Given the description of an element on the screen output the (x, y) to click on. 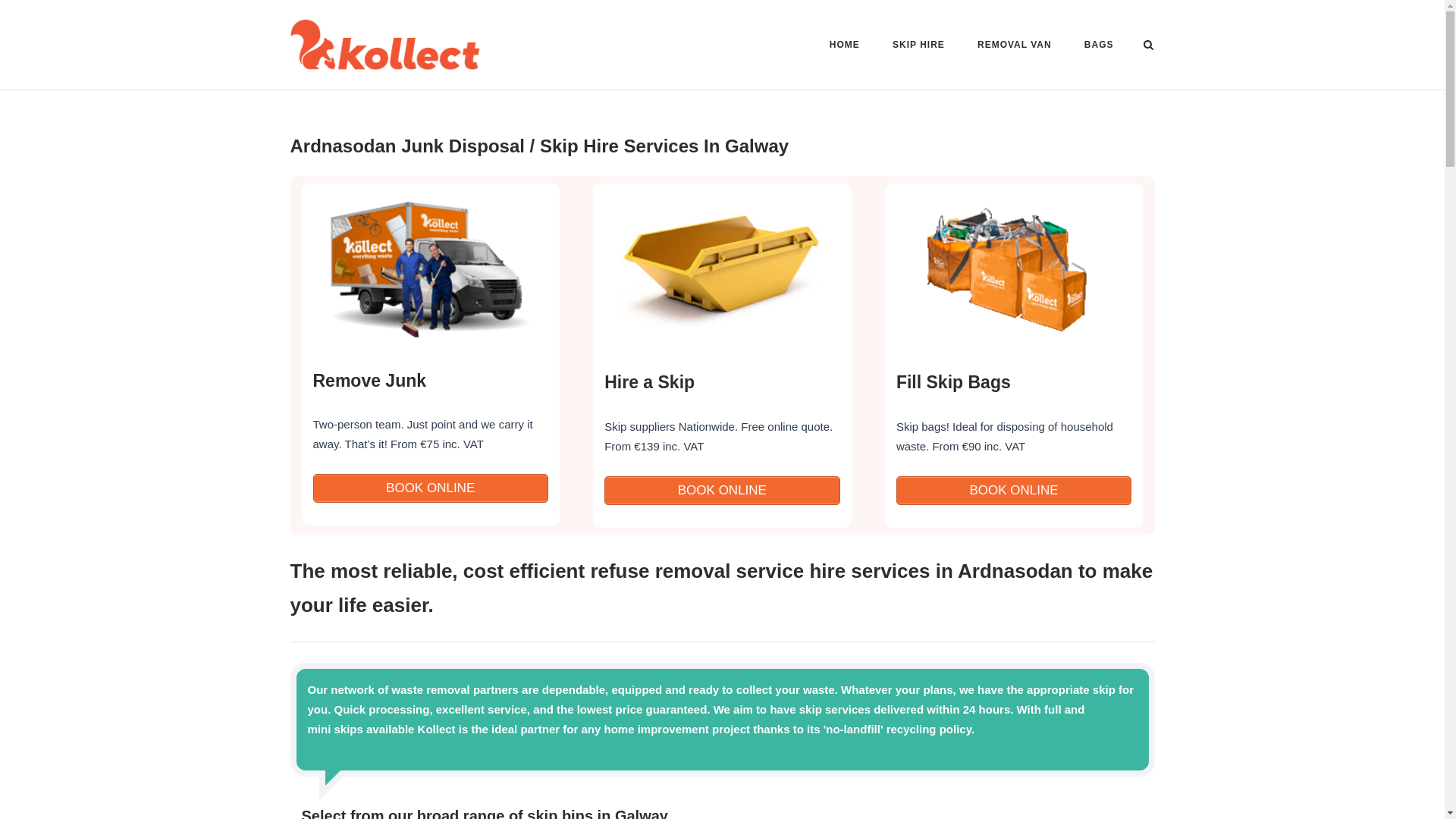
BOOK ONLINE (722, 490)
BOOK ONLINE (722, 490)
BOOK ONLINE (430, 488)
Junk Removal Ireland (430, 380)
BAGS (1098, 47)
BOOK ONLINE (1013, 490)
SKIP HIRE (918, 47)
Skip Bags Ireland (1013, 382)
REMOVAL VAN (1013, 47)
HOME (844, 47)
